Given the description of an element on the screen output the (x, y) to click on. 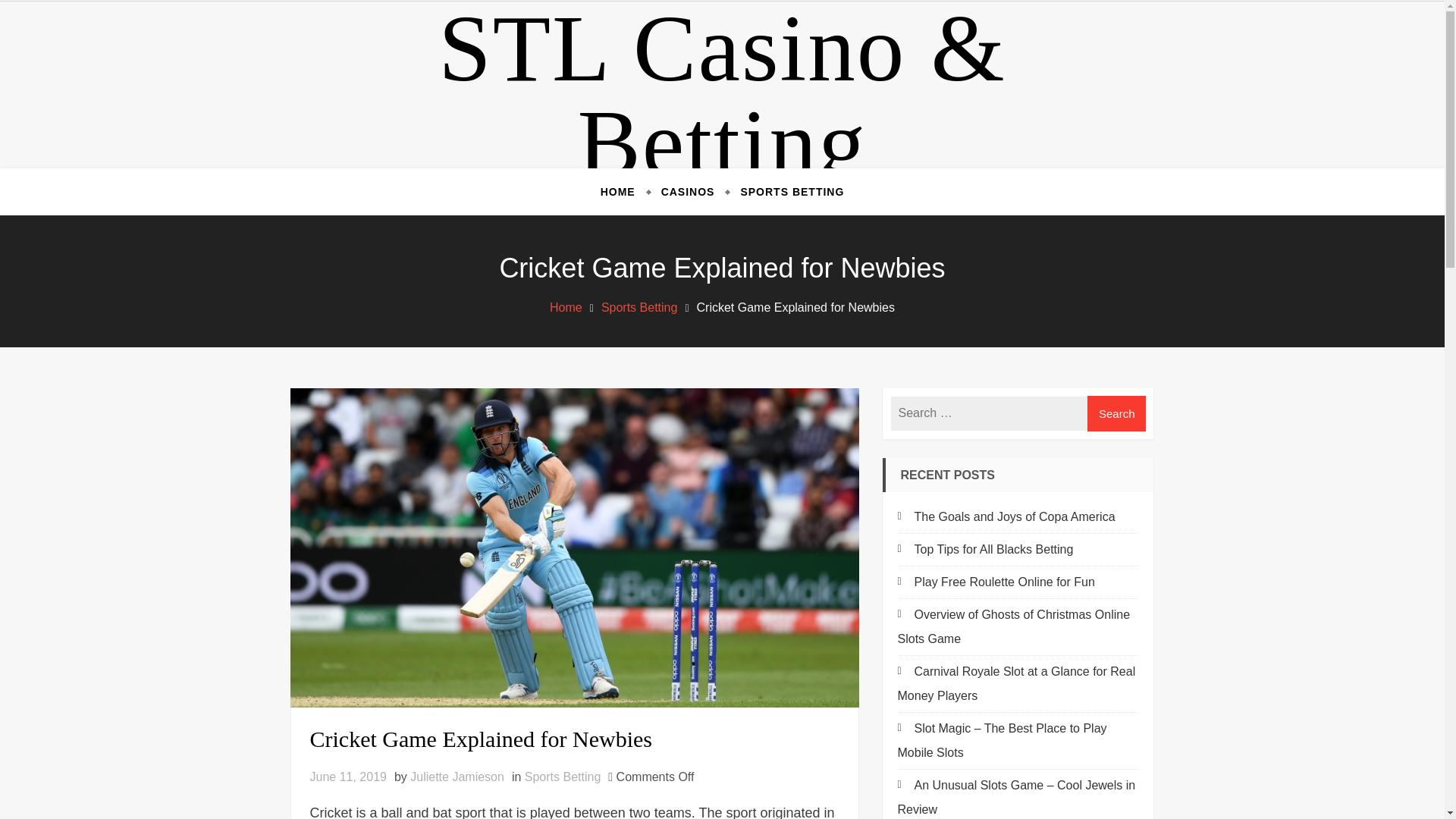
Cricket Game Explained for Newbies (573, 738)
CASINOS (687, 191)
Carnival Royale Slot at a Glance for Real Money Players (1016, 683)
HOME (623, 191)
Play Free Roulette Online for Fun (996, 581)
June 11, 2019 (346, 776)
Juliette Jamieson (456, 776)
Sports Betting (562, 776)
Search (1117, 413)
SPORTS BETTING (785, 191)
Search (1117, 413)
The Goals and Joys of Copa America (1006, 516)
Top Tips for All Blacks Betting (986, 549)
Search (1117, 413)
Overview of Ghosts of Christmas Online Slots Game (1014, 626)
